Given the description of an element on the screen output the (x, y) to click on. 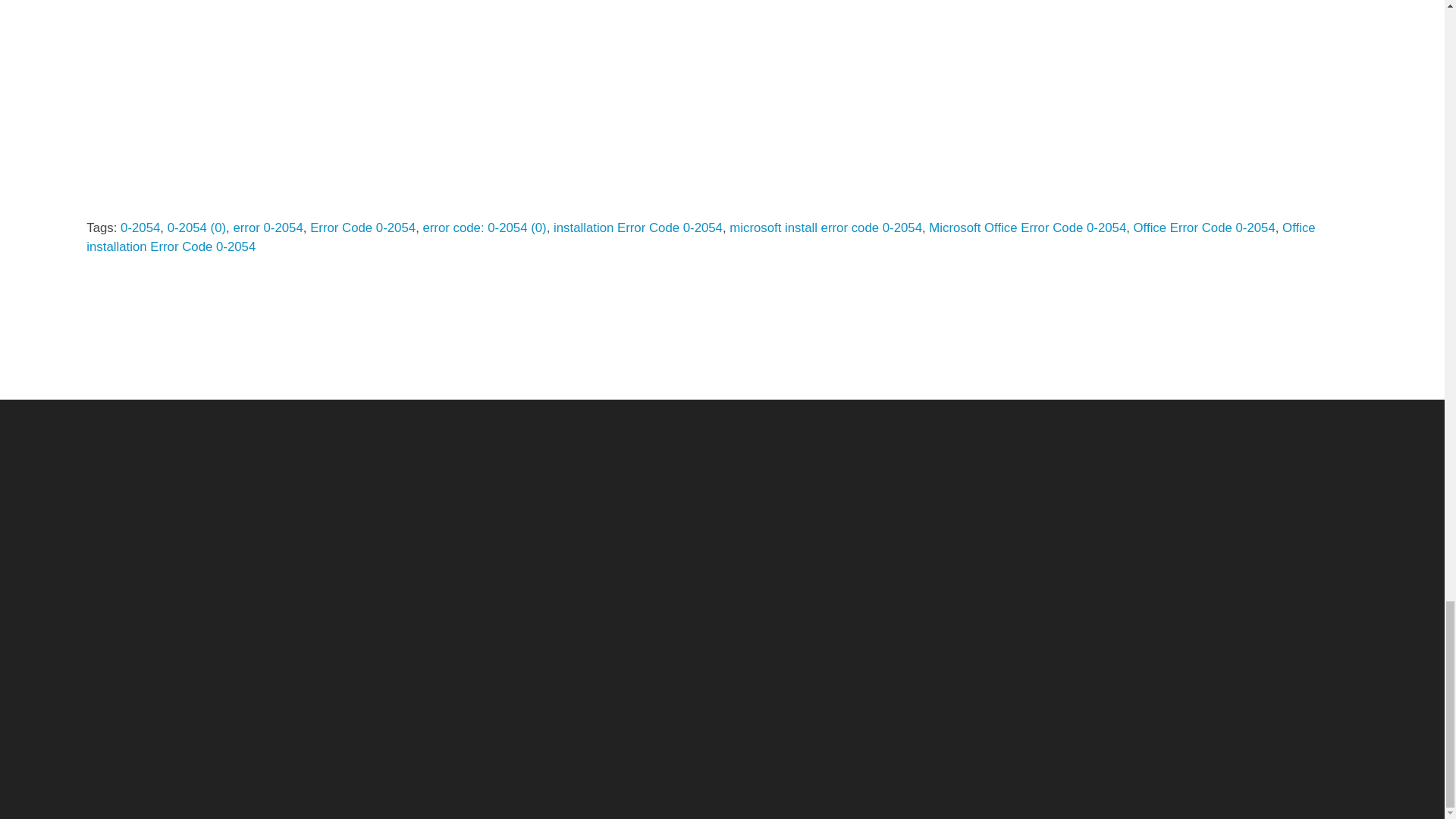
Office installation Error Code 0-2054 (699, 236)
installation Error Code 0-2054 (637, 227)
0-2054 (140, 227)
Microsoft Office Error Code 0-2054 (1026, 227)
Post Comment (166, 173)
error 0-2054 (267, 227)
Error Code 0-2054 (362, 227)
microsoft install error code 0-2054 (825, 227)
Office Error Code 0-2054 (1204, 227)
